Given the description of an element on the screen output the (x, y) to click on. 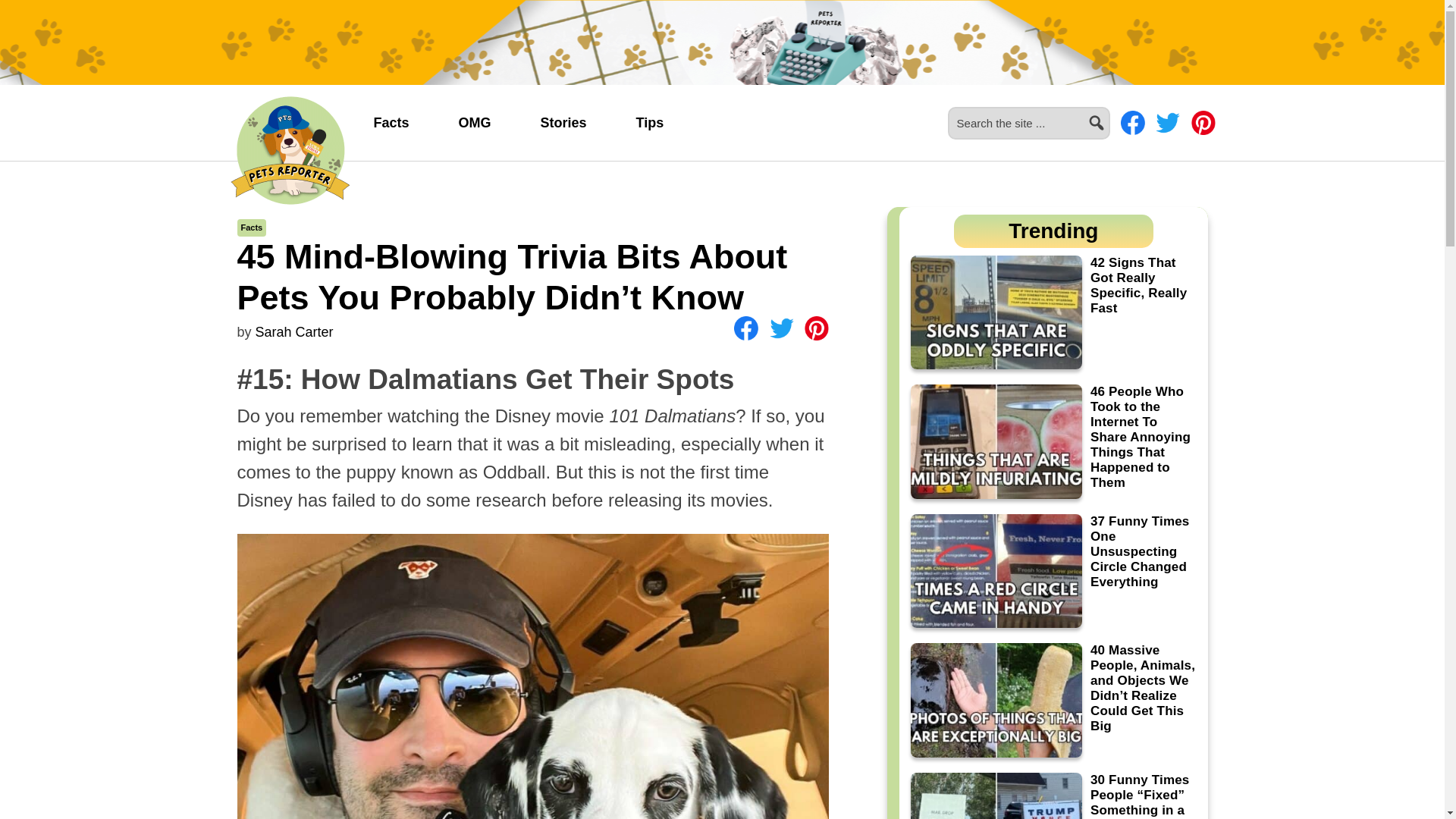
Search (1116, 113)
Search (1116, 113)
Tips (649, 122)
OMG (474, 122)
Facts (252, 226)
42 Signs That Got Really Specific, Really Fast (1053, 312)
Stories (564, 122)
Sarah Carter (294, 331)
Facts (390, 122)
